Given the description of an element on the screen output the (x, y) to click on. 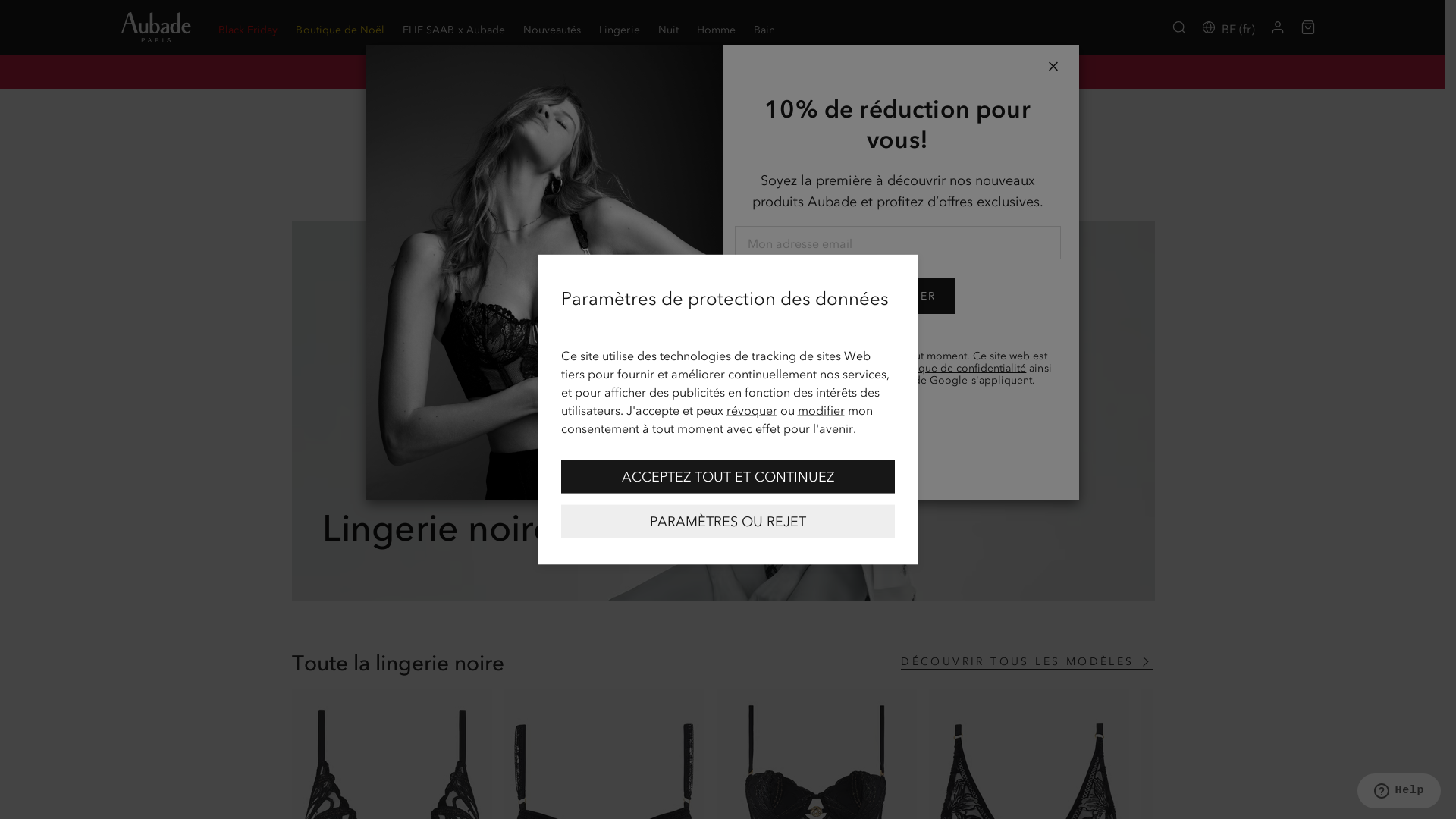
modifier Element type: text (820, 409)
Bain Element type: text (764, 27)
conditions d'utilisation Element type: text (854, 379)
Black Friday Element type: text (247, 27)
Mon compte Element type: hover (1277, 27)
BE (fr) Element type: text (1228, 27)
ACCEPTEZ TOUT ET CONTINUEZ Element type: text (727, 475)
Lingerie Element type: text (619, 27)
Homme Element type: text (715, 27)
S'ABONNER Element type: text (897, 295)
En profiter Element type: text (975, 71)
Opens a widget where you can find more information Element type: hover (1398, 792)
Nuit Element type: text (668, 27)
ELIE SAAB x Aubade Element type: text (453, 27)
